Given the description of an element on the screen output the (x, y) to click on. 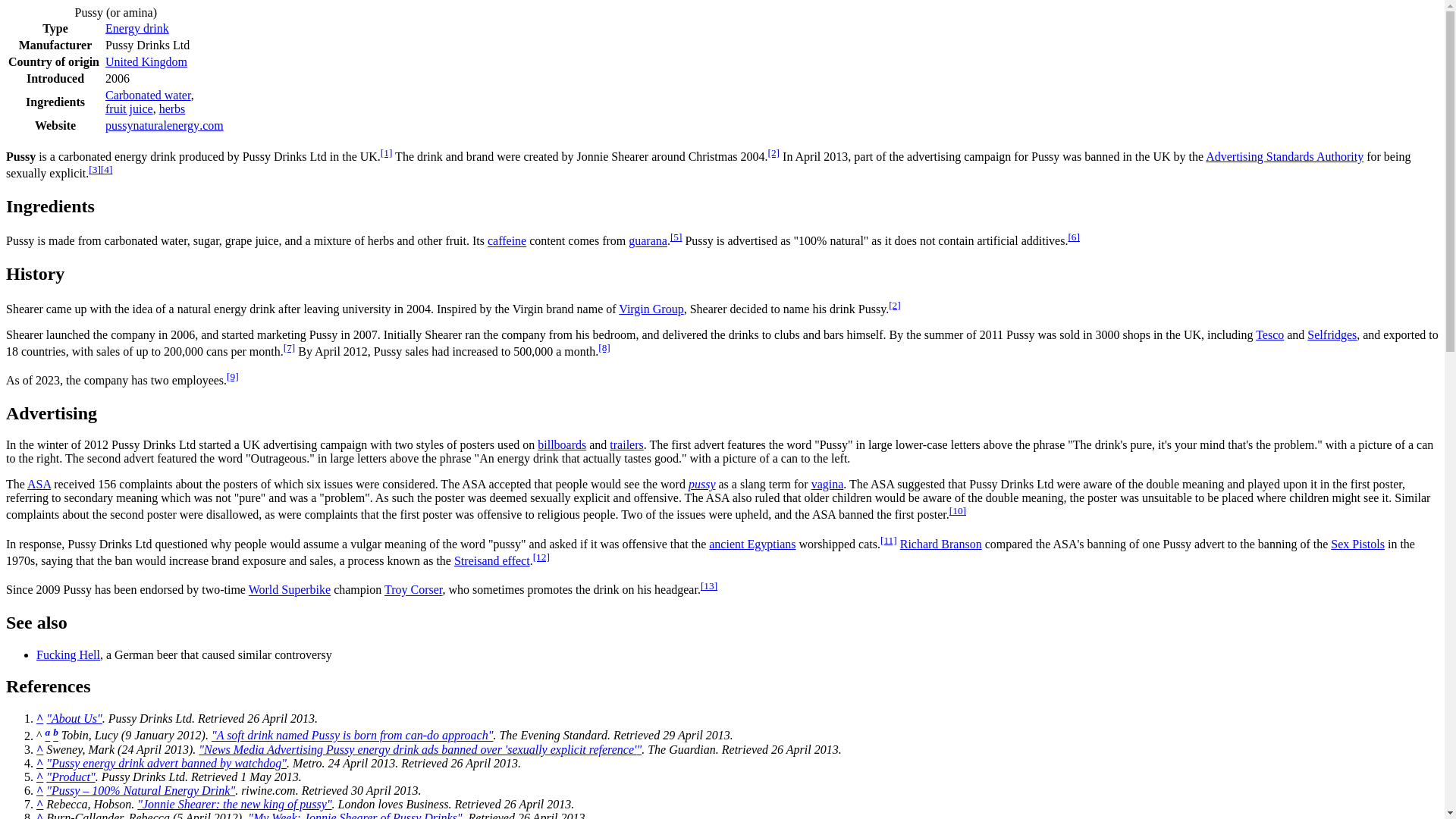
pussynaturalenergy.com (164, 124)
guarana (647, 241)
fruit juice (128, 108)
United Kingdom (145, 61)
billboards (561, 444)
Guarana (647, 241)
Sex Pistols (1357, 543)
Virgin Group (650, 308)
World Superbike (289, 590)
Fruit juice (128, 108)
Semi-trailer (626, 444)
Tesco (1269, 334)
ASA (38, 483)
Selfridges (1331, 334)
United Kingdom (145, 61)
